Given the description of an element on the screen output the (x, y) to click on. 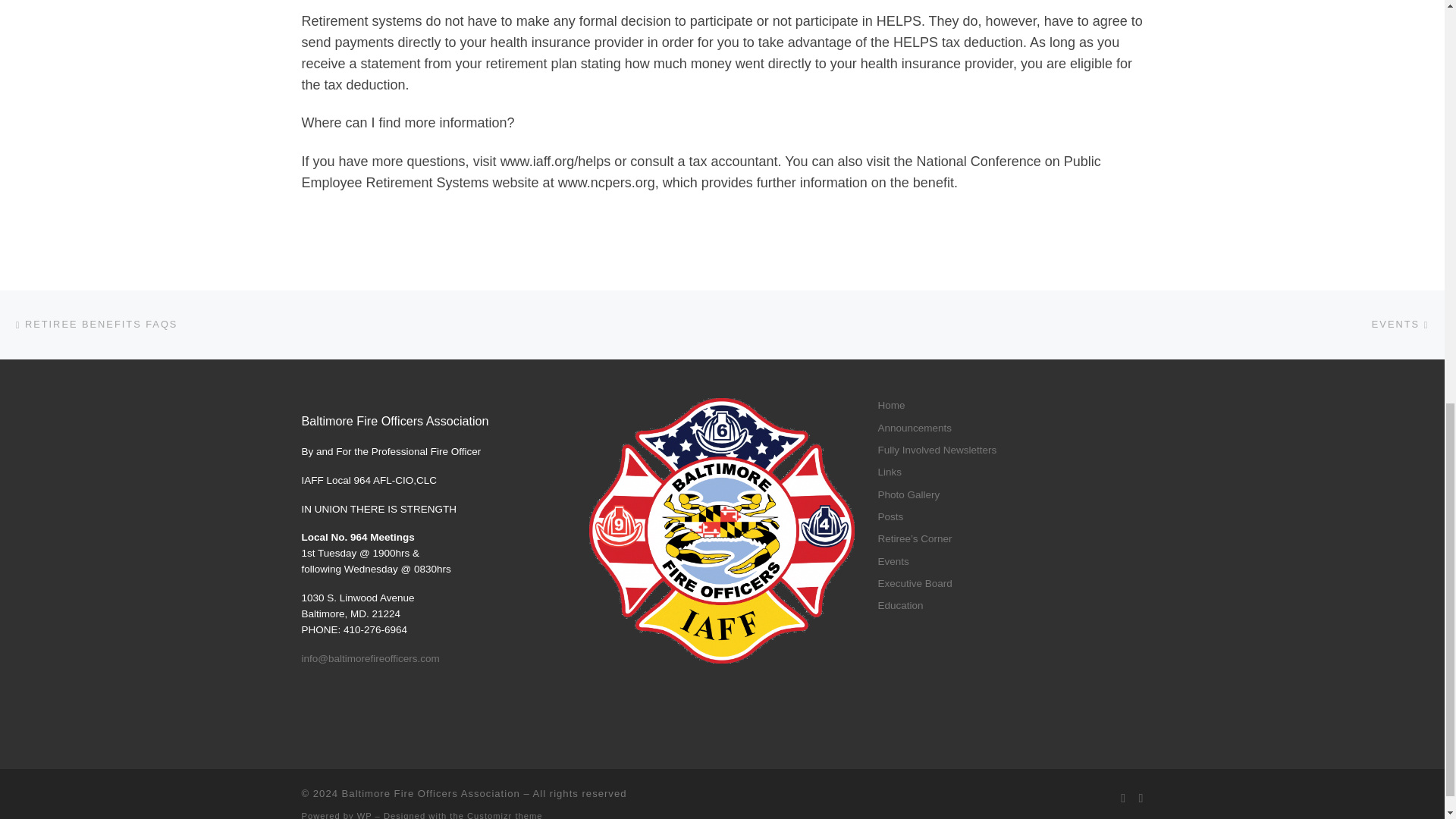
Baltimore Fire Officers Association (430, 793)
Powered by WordPress (364, 815)
Customizr theme (505, 815)
